Given the description of an element on the screen output the (x, y) to click on. 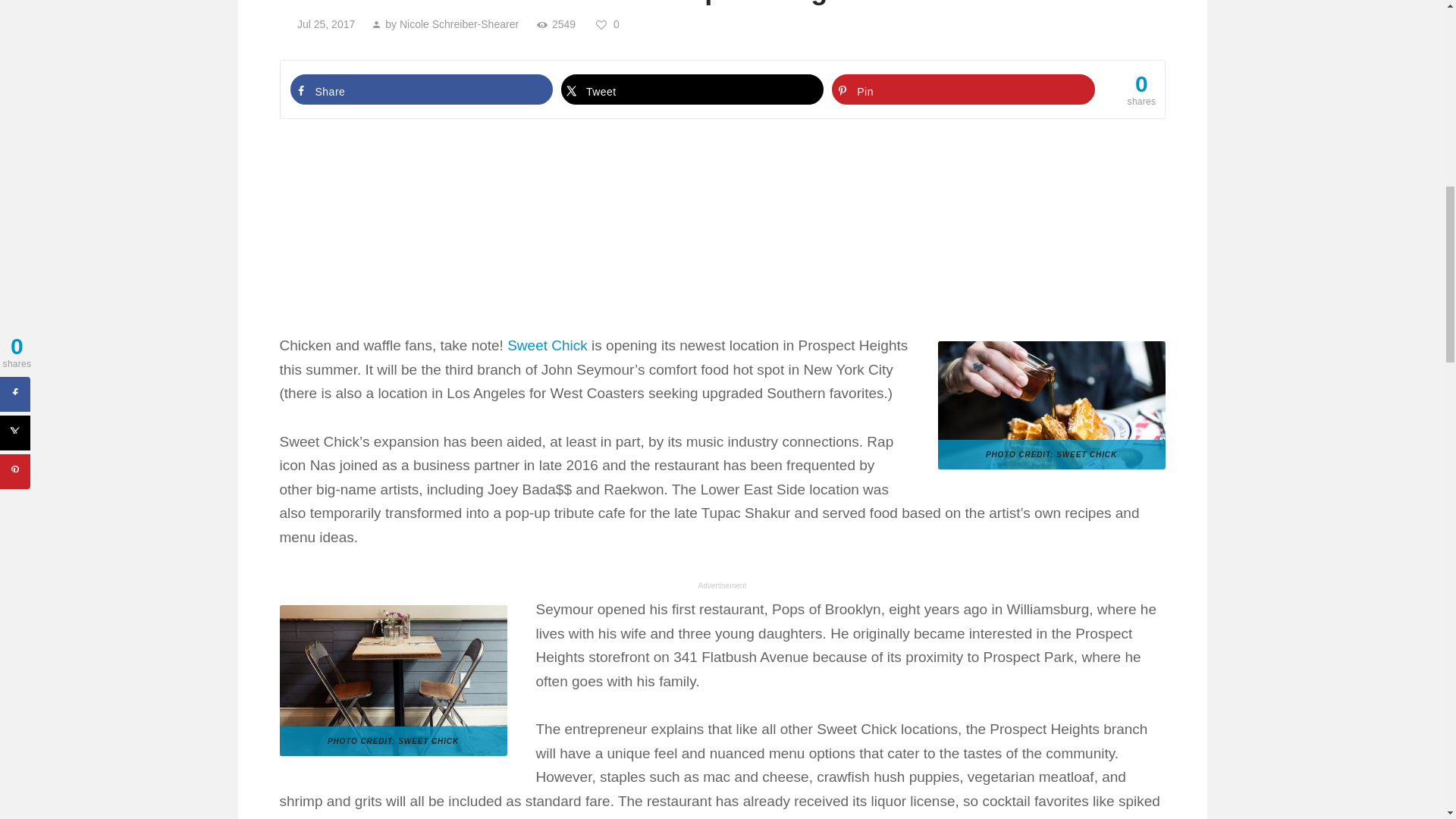
Share on Facebook (421, 89)
Share on X (692, 89)
Like (609, 24)
Save to Pinterest (962, 89)
